Given the description of an element on the screen output the (x, y) to click on. 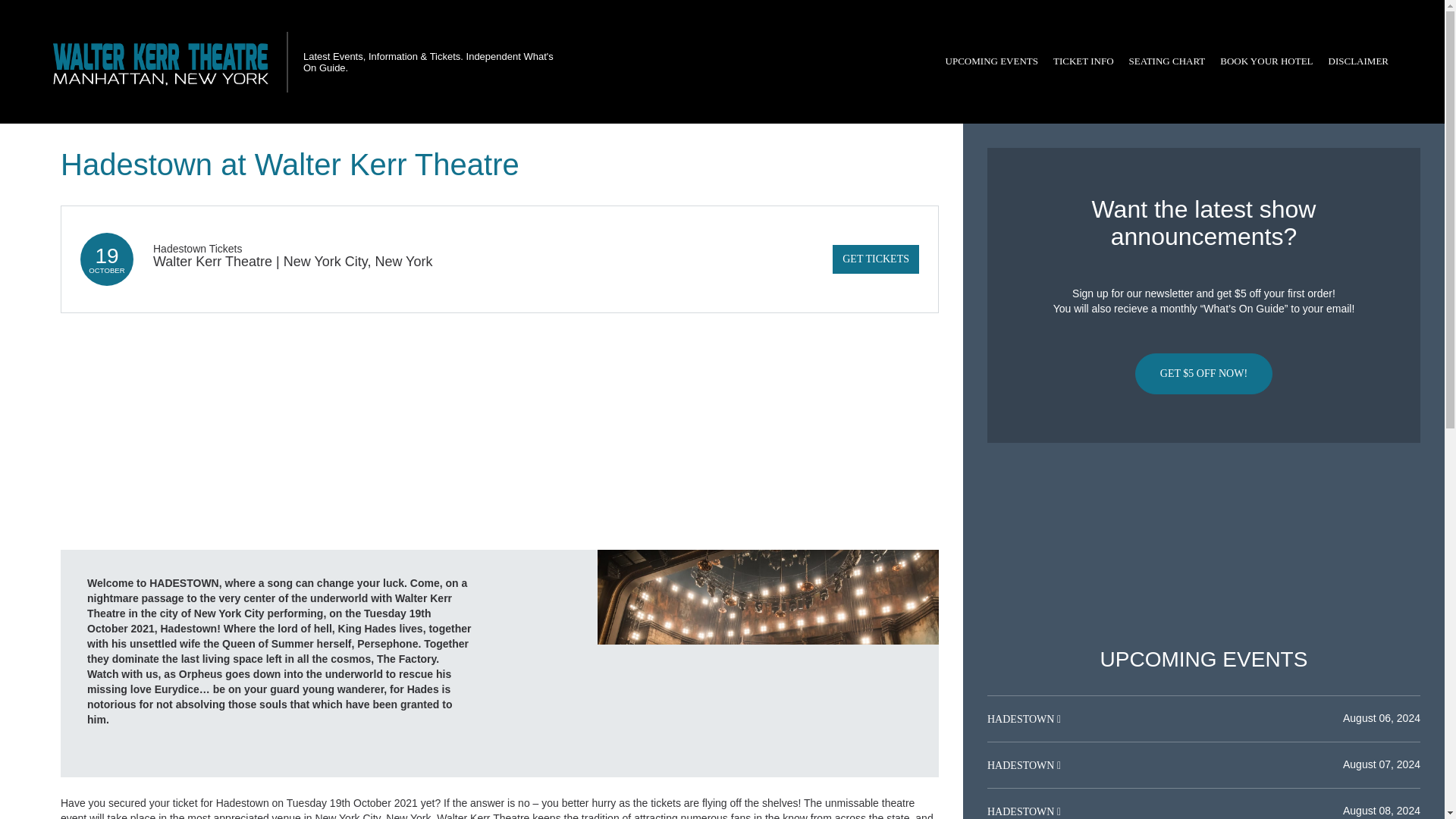
Advertisement (1204, 545)
BOOK YOUR HOTEL (1266, 61)
SEATING CHART (1166, 61)
GET TICKETS (875, 258)
TICKET INFO (1083, 61)
DISCLAIMER (1358, 61)
Hadestown Tickets (197, 248)
Hadestown at Walter Kerr Theatre (767, 663)
UPCOMING EVENTS (991, 61)
